Given the description of an element on the screen output the (x, y) to click on. 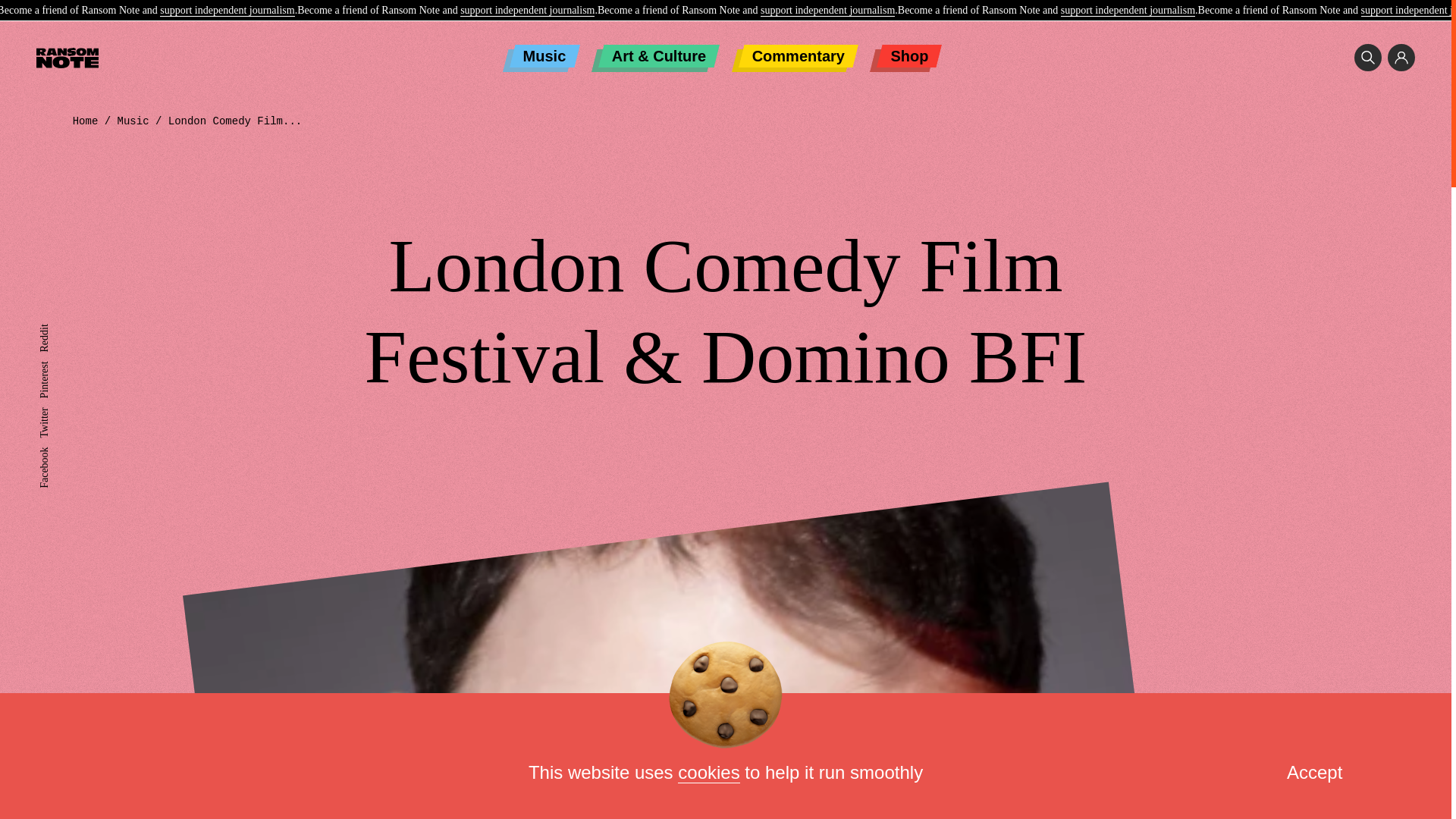
Shop (909, 56)
Music (544, 56)
support independent journalism (527, 10)
Pinterest (57, 367)
Reddit (52, 329)
Commentary (798, 56)
Home (85, 121)
support independent journalism (1128, 10)
Facebook (59, 452)
Music (133, 121)
Twitter (53, 413)
support independent journalism (827, 10)
support independent journalism (227, 10)
